Given the description of an element on the screen output the (x, y) to click on. 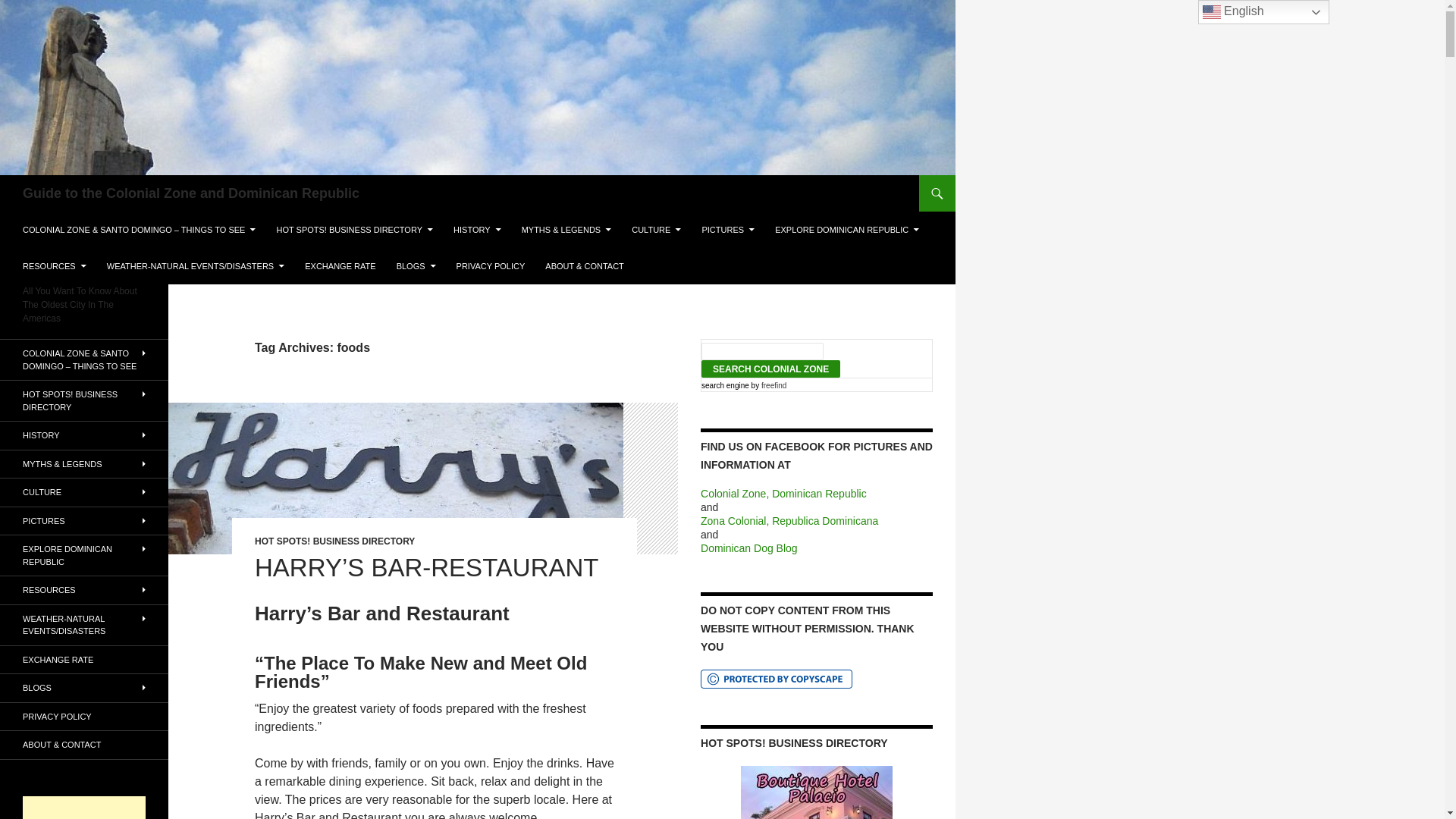
Guide to the Colonial Zone and Dominican Republic (191, 193)
Protected by Copyscape - Do not copy content from this page. (775, 678)
search Colonial Zone (770, 368)
Advertisement (84, 807)
